Given the description of an element on the screen output the (x, y) to click on. 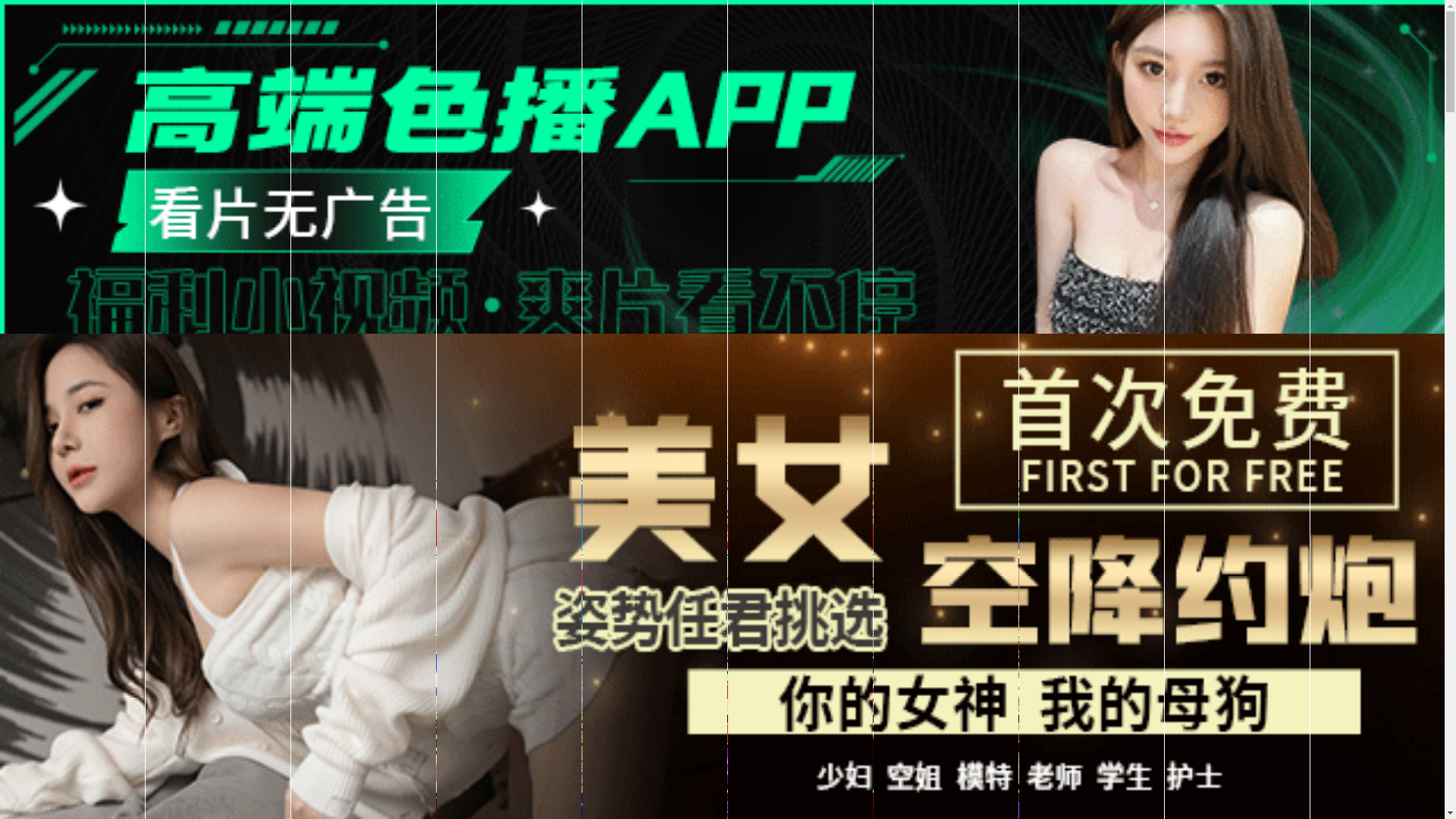
6686 Element type: hover (721, 669)
| Element type: text (794, 471)
6686 Element type: hover (721, 747)
| Element type: text (1061, 471)
| Element type: text (426, 471)
| Element type: text (173, 471)
| Element type: text (611, 471)
| Element type: text (519, 471)
| Element type: text (562, 471)
| Element type: text (1207, 471)
| Element type: text (238, 471)
| Element type: text (895, 471)
| Element type: text (1005, 471)
| Element type: text (1433, 471)
| Element type: text (668, 471)
| Element type: text (1033, 471)
| Element type: text (324, 471)
| Element type: text (973, 471)
| Element type: text (285, 471)
| Element type: text (1111, 471)
6686 Element type: hover (721, 552)
| Element type: text (472, 471)
| Element type: text (938, 471)
| Element type: text (704, 471)
| Element type: text (363, 471)
| Element type: text (1335, 471)
| Element type: text (1166, 471)
| Element type: text (740, 471)
| Element type: text (198, 471)
| Element type: text (1391, 471)
| Element type: text (1300, 471)
| Element type: text (851, 471)
| Element type: text (1231, 471)
